Given the description of an element on the screen output the (x, y) to click on. 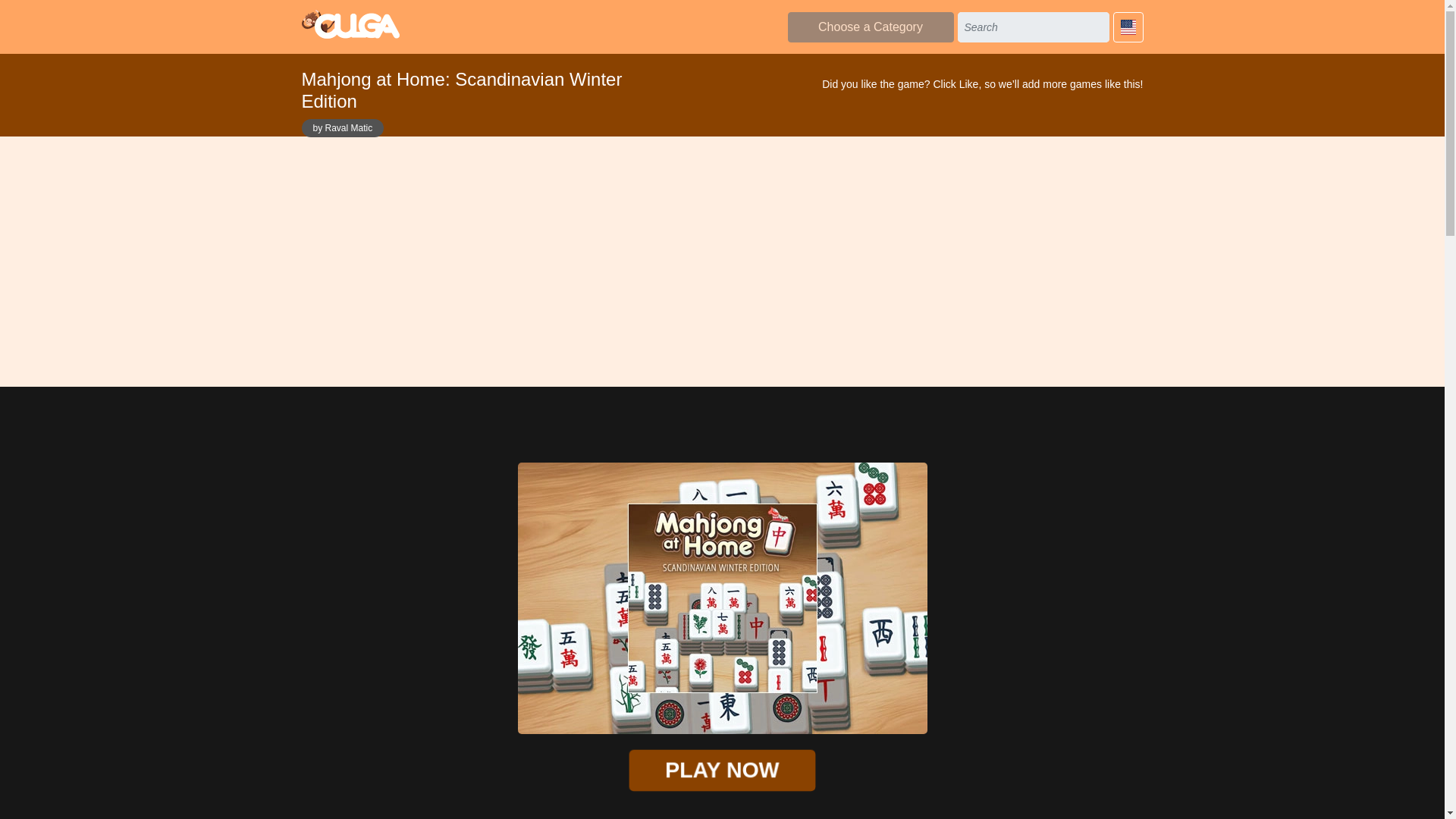
Culga.com (349, 23)
Culga.com (349, 23)
PLAY NOW (714, 768)
Choose a Category (870, 27)
